Given the description of an element on the screen output the (x, y) to click on. 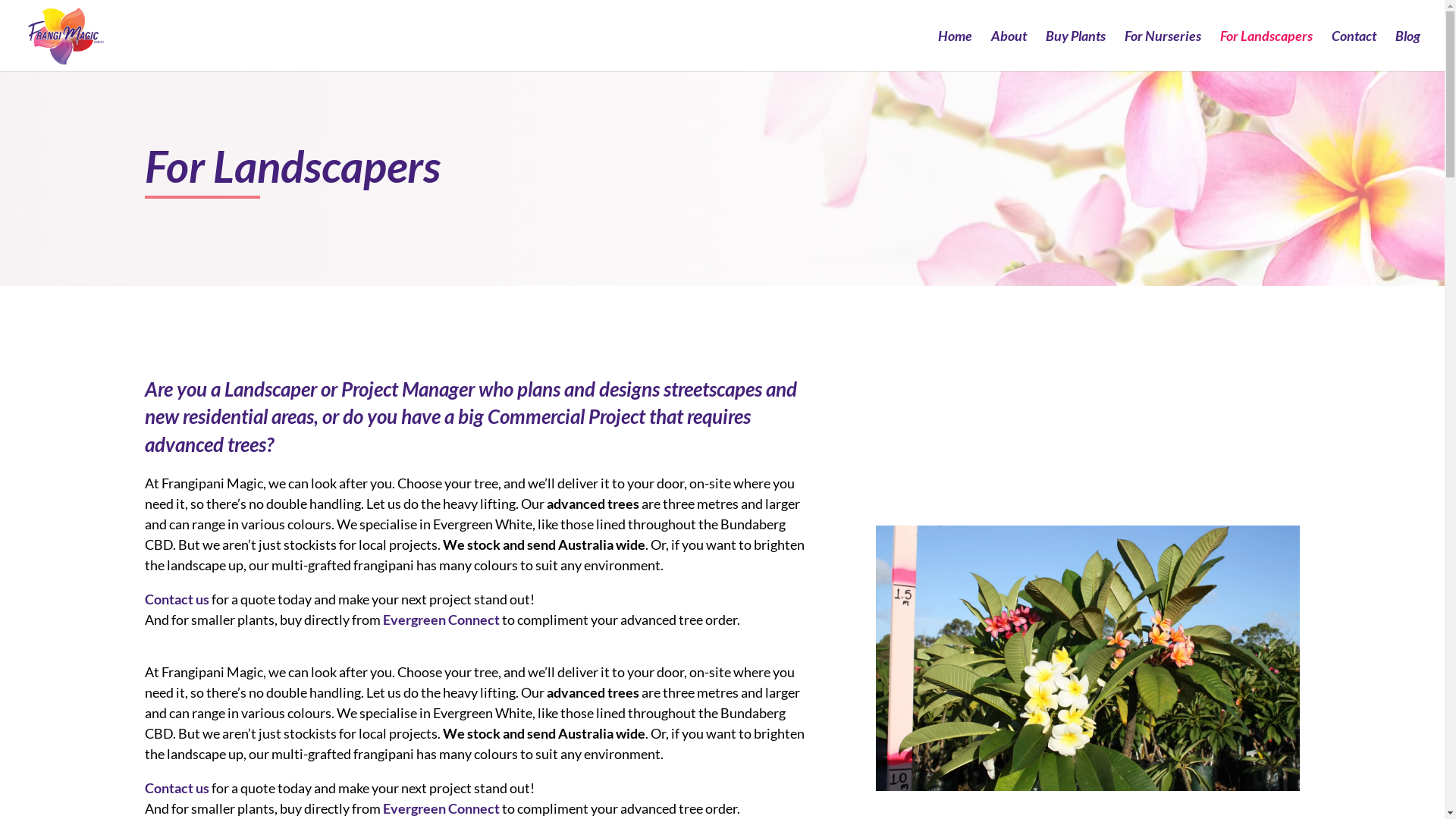
Buy Plants Element type: text (1075, 50)
FM-MG-2 Element type: hover (1087, 657)
Evergreen Connect Element type: text (440, 808)
Blog Element type: text (1407, 50)
About Element type: text (1008, 50)
For Nurseries Element type: text (1162, 50)
For Landscapers Element type: text (1266, 50)
Contact us Element type: text (176, 598)
Contact us Element type: text (176, 787)
Home Element type: text (955, 50)
Evergreen Connect Element type: text (440, 619)
Contact Element type: text (1353, 50)
